Given the description of an element on the screen output the (x, y) to click on. 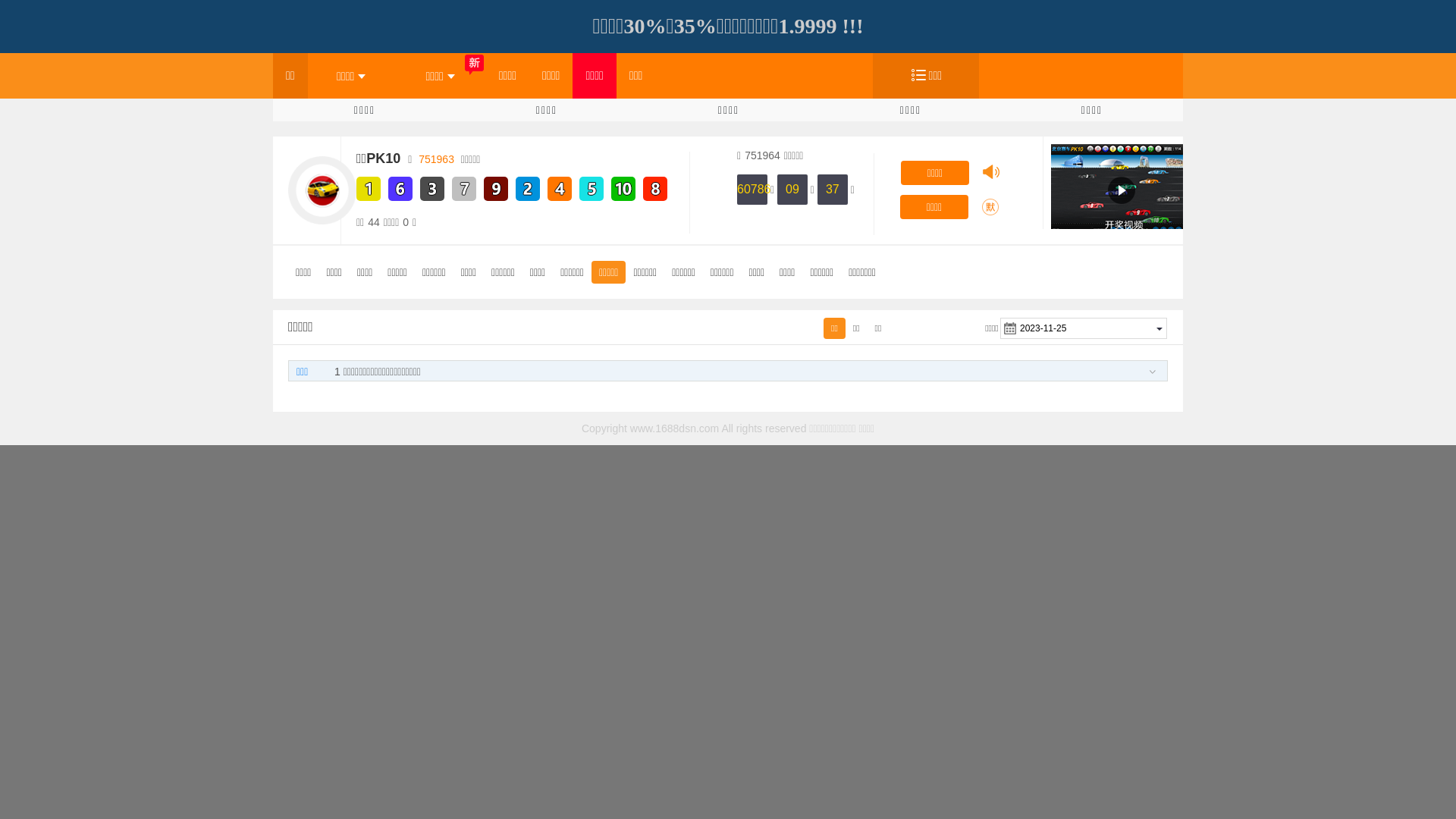
www.1688dsn.com Element type: text (674, 428)
